Given the description of an element on the screen output the (x, y) to click on. 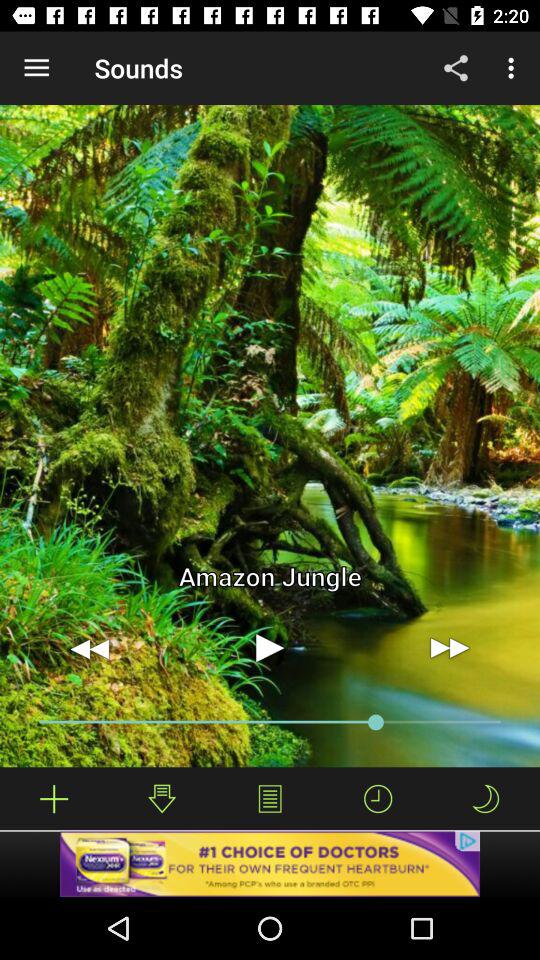
click to play the music (269, 648)
select the download icon (161, 798)
click on the icon share (456, 68)
select the third icon which is at the bottom of the screen (269, 798)
click on night mode icon which is right to timer icon (485, 798)
